Given the description of an element on the screen output the (x, y) to click on. 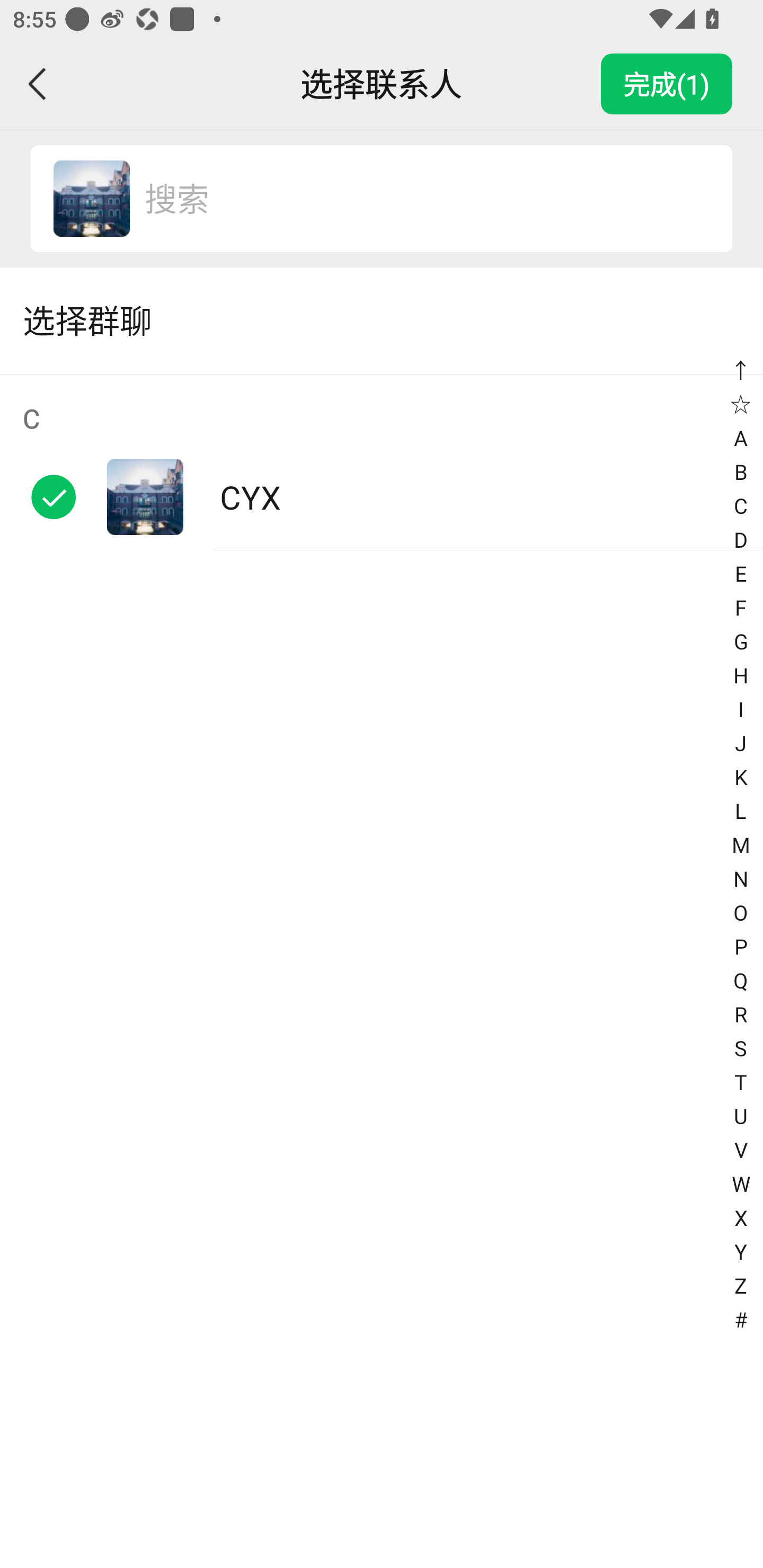
返回 (38, 83)
完成(1) (666, 83)
CYX (91, 198)
搜索 (418, 198)
选择群聊 (381, 320)
C CYX (381, 462)
